Given the description of an element on the screen output the (x, y) to click on. 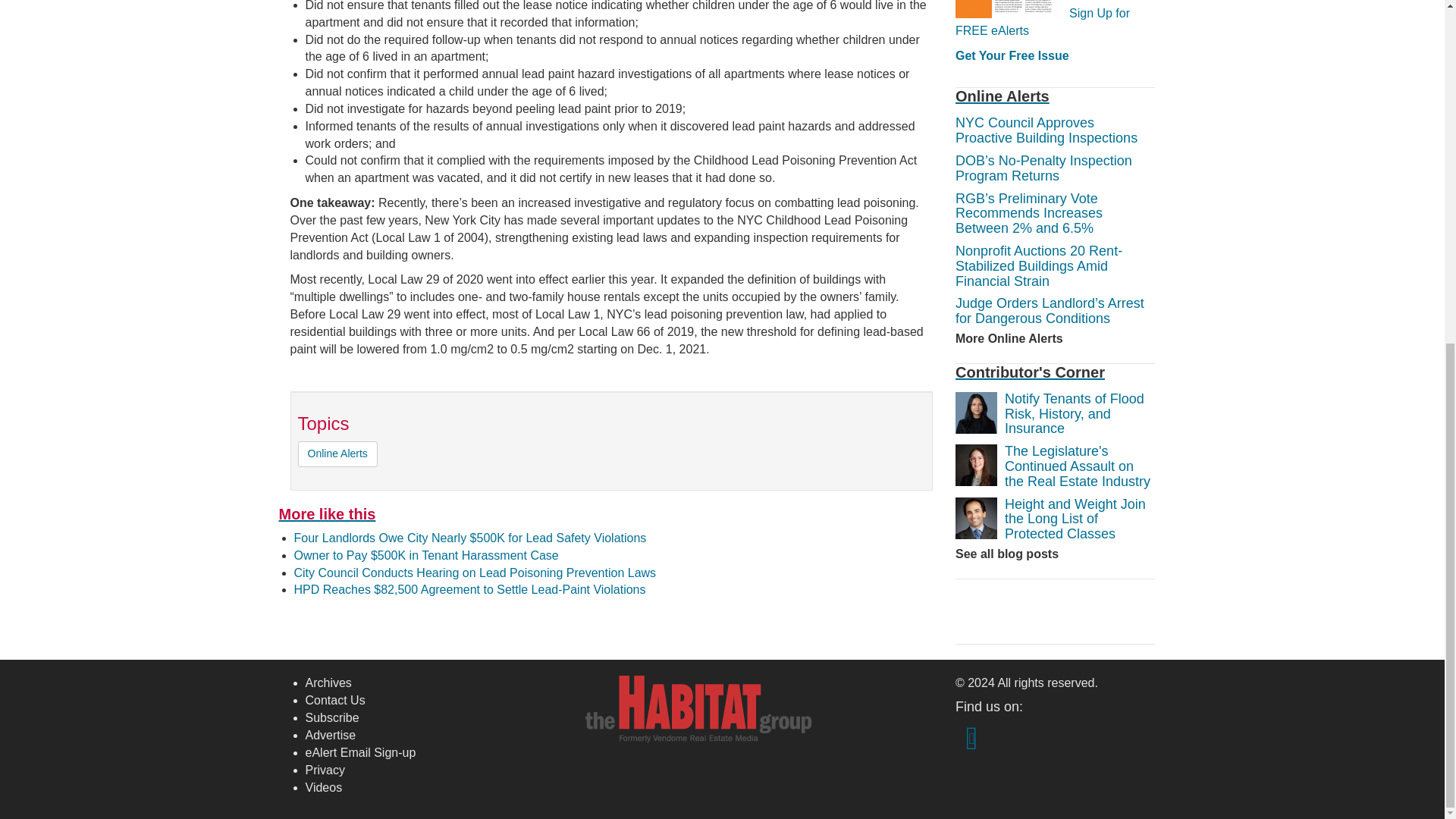
Subscribe to HCD newsletters and magazine (331, 717)
Contact Editorial Staff (334, 699)
Privacy Policy (323, 769)
